Given the description of an element on the screen output the (x, y) to click on. 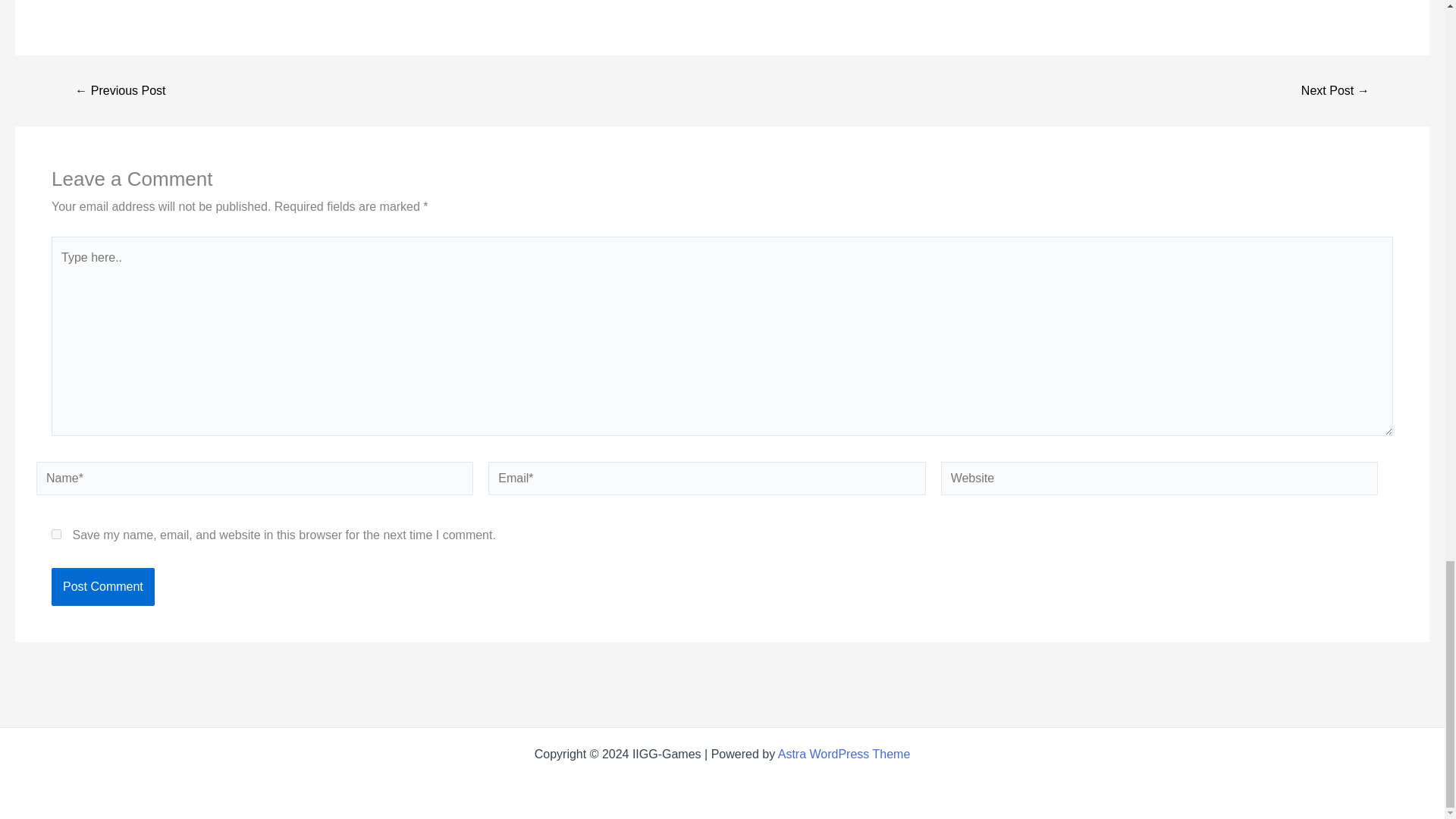
Post Comment (102, 587)
Astra WordPress Theme (844, 753)
yes (55, 533)
Post Comment (102, 587)
